Given the description of an element on the screen output the (x, y) to click on. 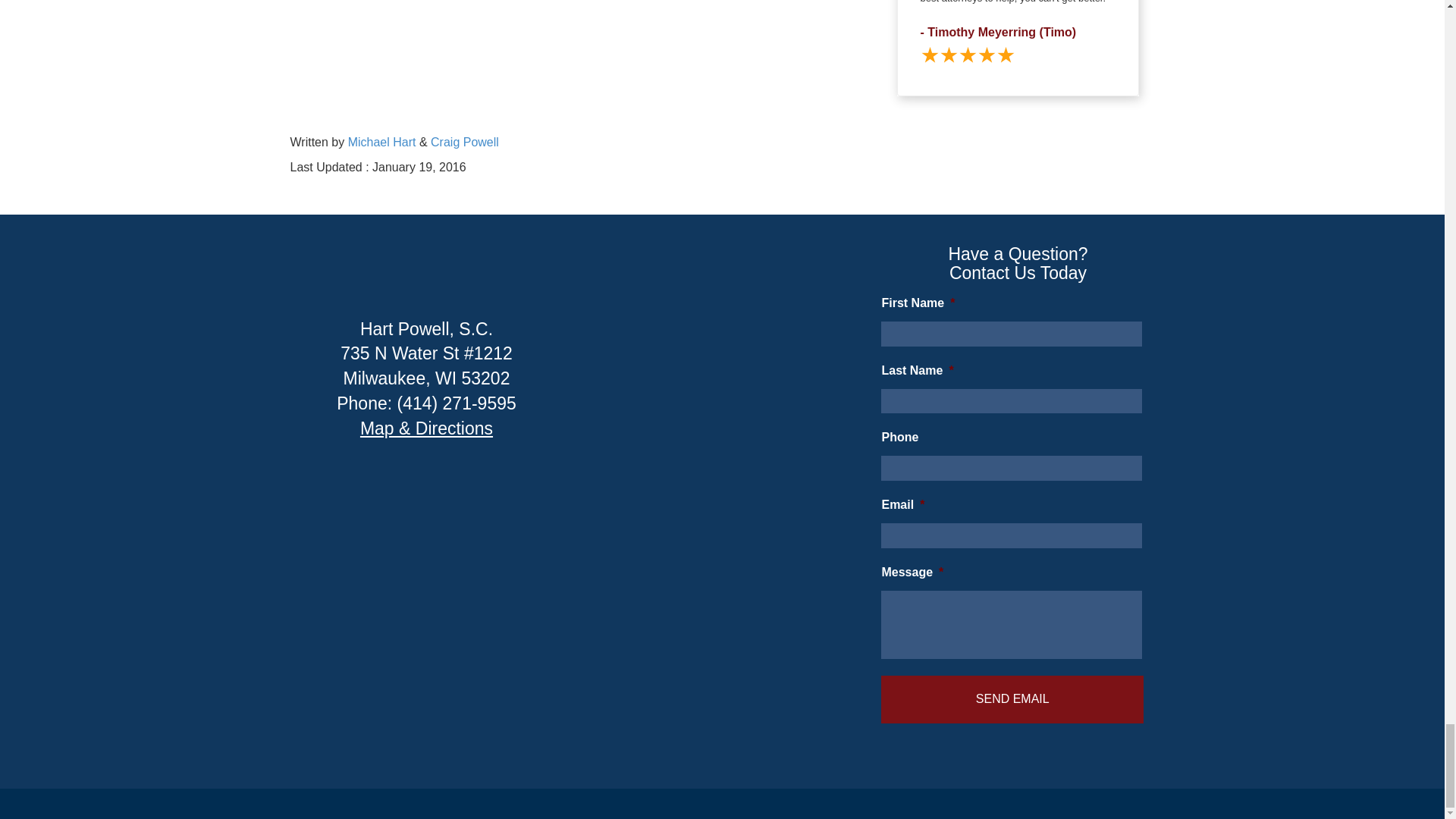
Send Email (1011, 699)
